Given the description of an element on the screen output the (x, y) to click on. 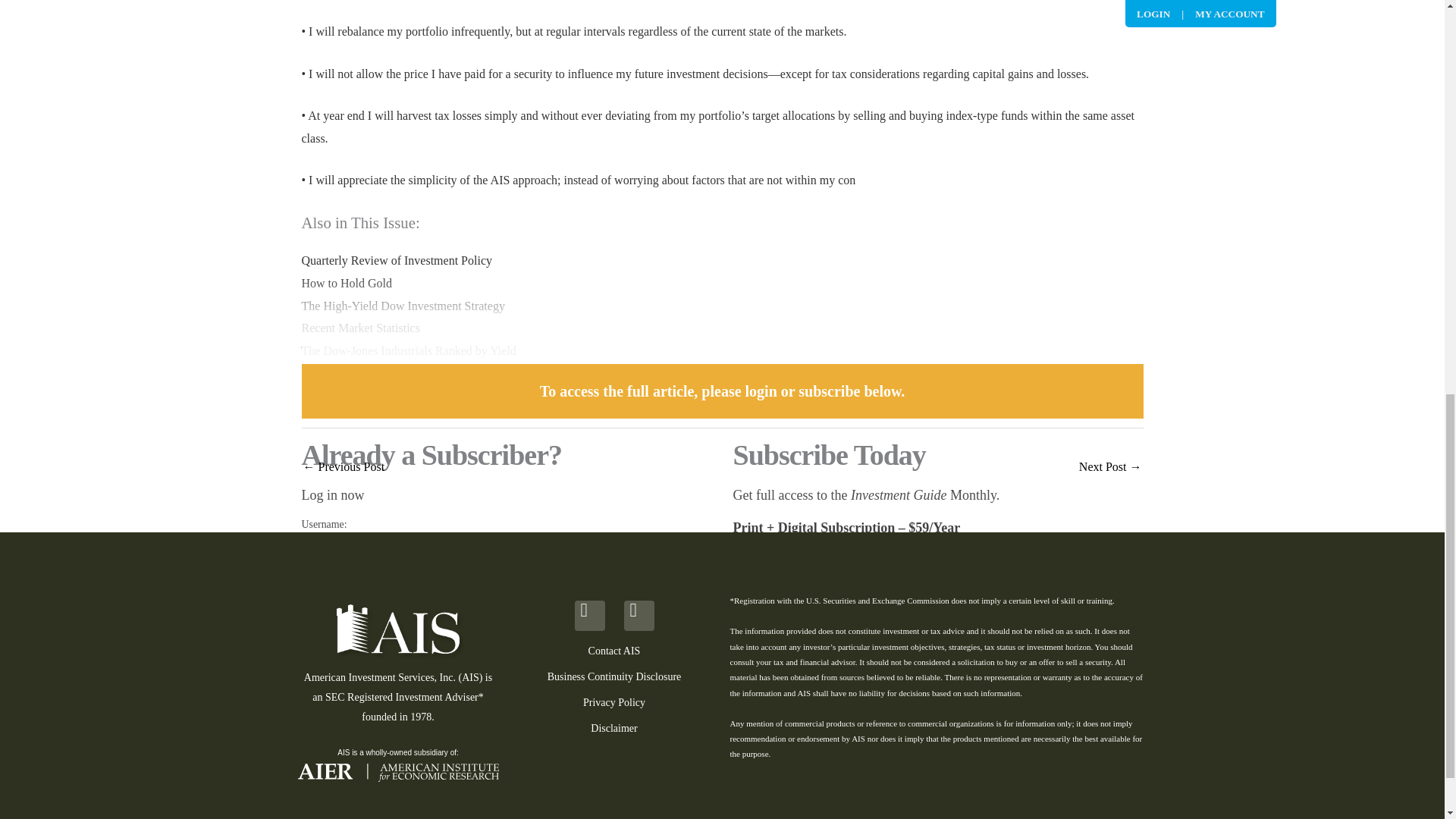
Forgot Password (336, 691)
October 2015 - Will your Broker Sign This? (1109, 468)
Login (357, 662)
Login (357, 662)
